Given the description of an element on the screen output the (x, y) to click on. 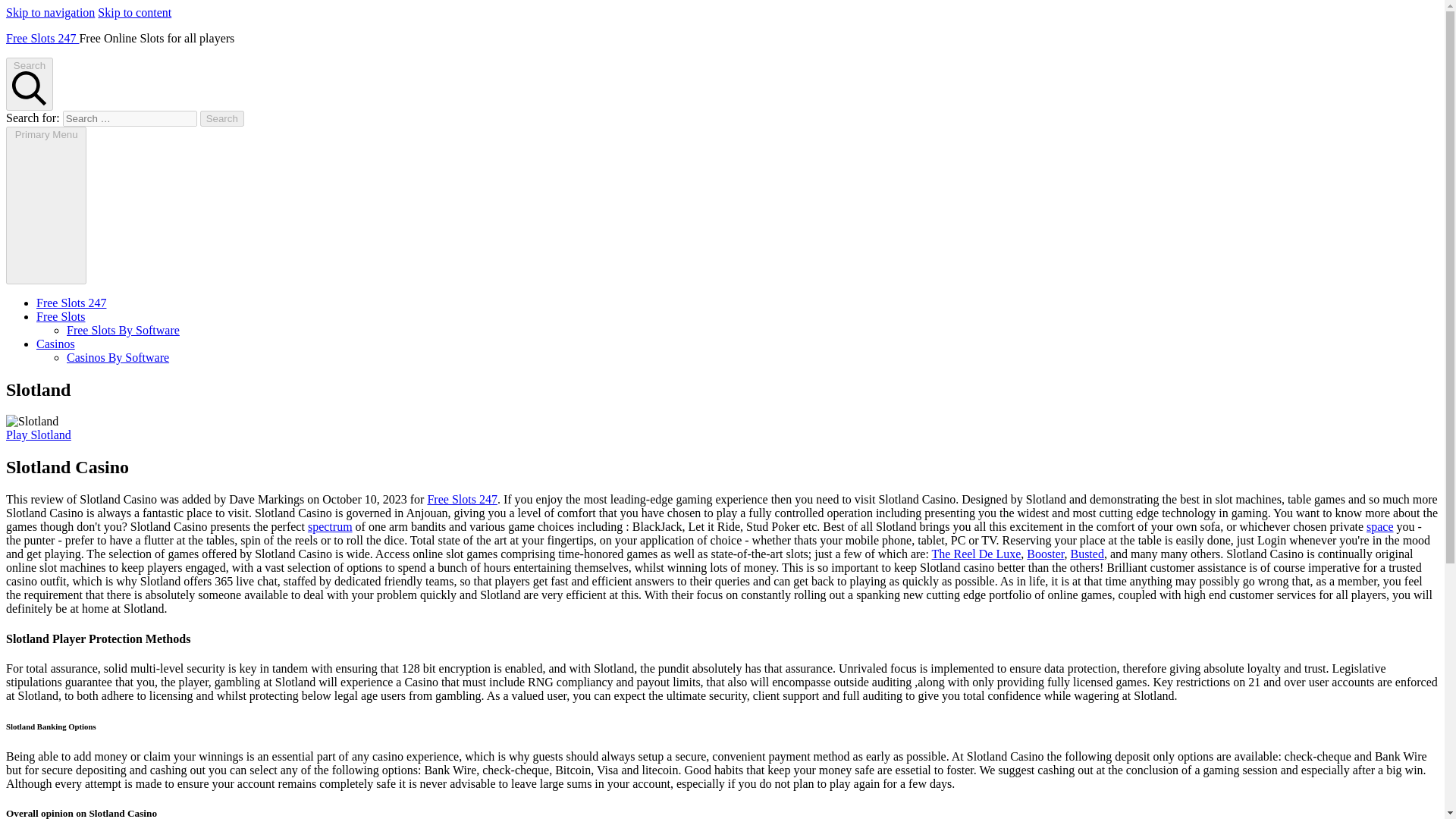
Booster (1045, 553)
Play Slotland (38, 434)
Free Slots 247 (71, 302)
Search (222, 118)
Skip to content (134, 11)
Free Slots 247 (461, 499)
Casinos By Software (117, 357)
Skip to navigation (49, 11)
Casinos (55, 343)
Free Slots (60, 316)
